Given the description of an element on the screen output the (x, y) to click on. 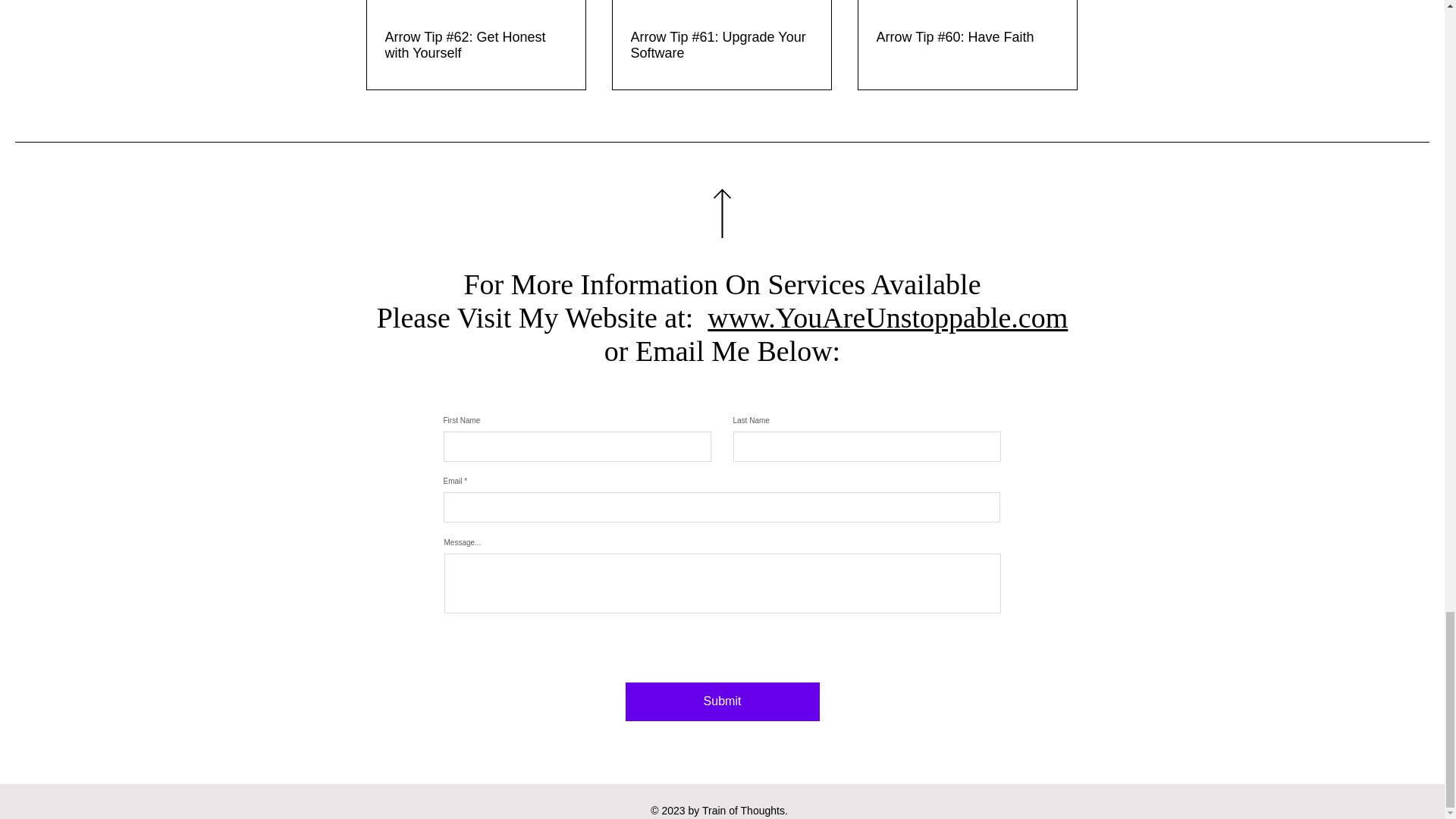
Submit (721, 701)
www.YouAreUnstoppable.com (887, 317)
